Given the description of an element on the screen output the (x, y) to click on. 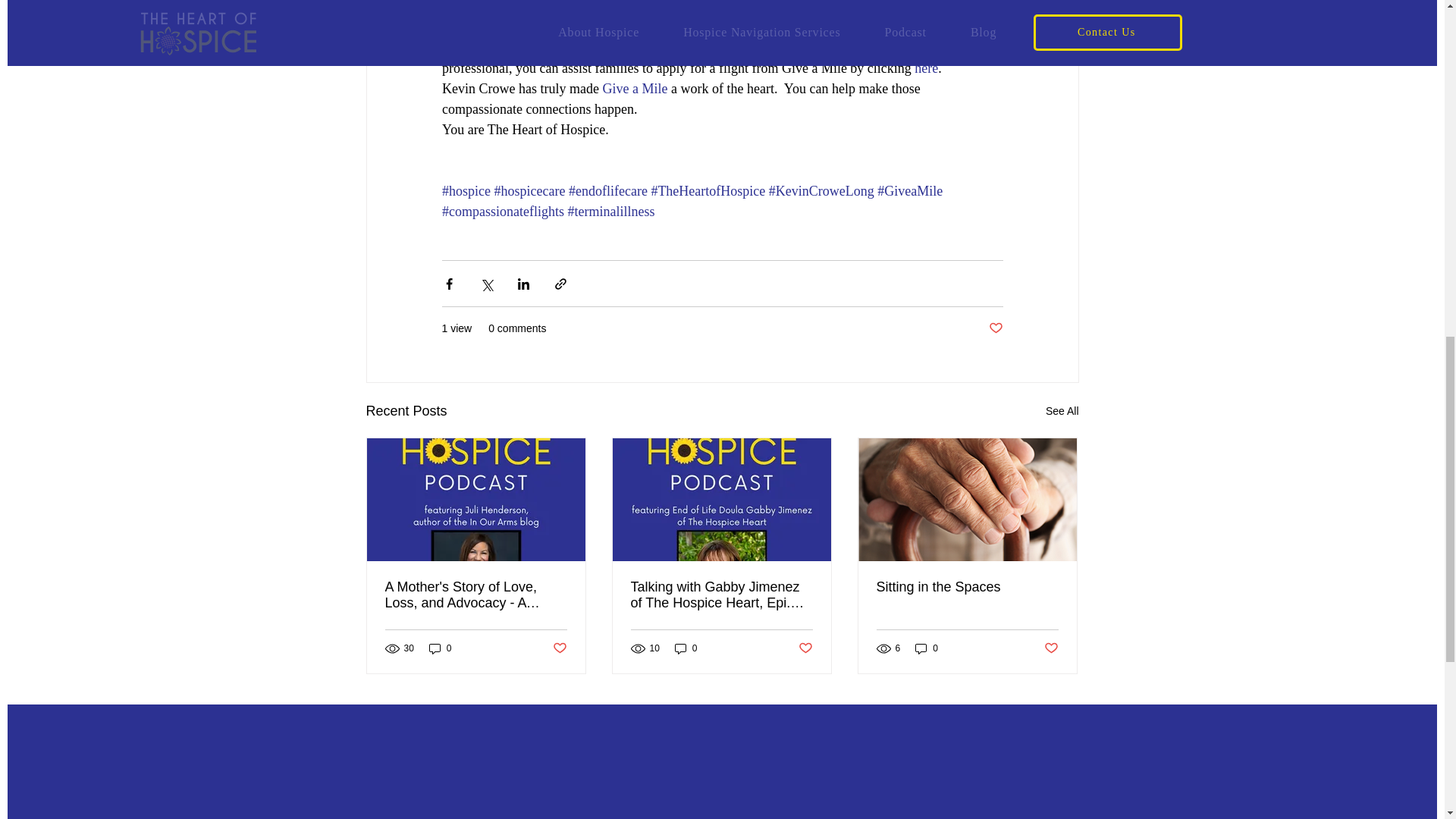
Talking with Gabby Jimenez of The Hospice Heart, Epi. 194 (721, 594)
0 (440, 648)
Post not marked as liked (558, 647)
Post not marked as liked (995, 328)
See All (1061, 411)
support the work of Give a Mile  (578, 7)
here (925, 68)
Give a Mile (634, 88)
